Given the description of an element on the screen output the (x, y) to click on. 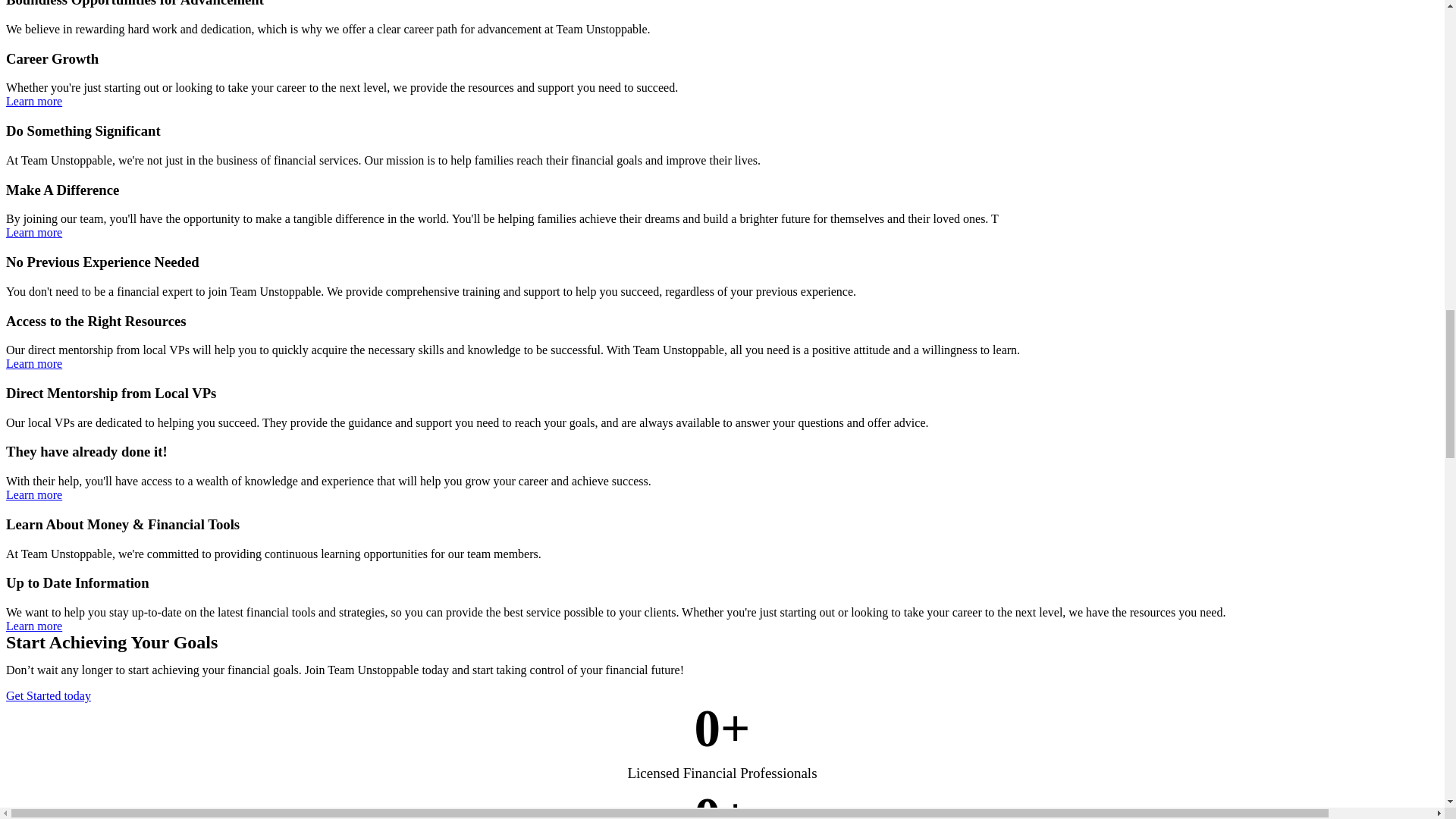
Learn more (33, 363)
Learn more (33, 494)
Learn more (33, 625)
Get Started today (47, 695)
Learn more (33, 101)
Learn more (33, 232)
